Given the description of an element on the screen output the (x, y) to click on. 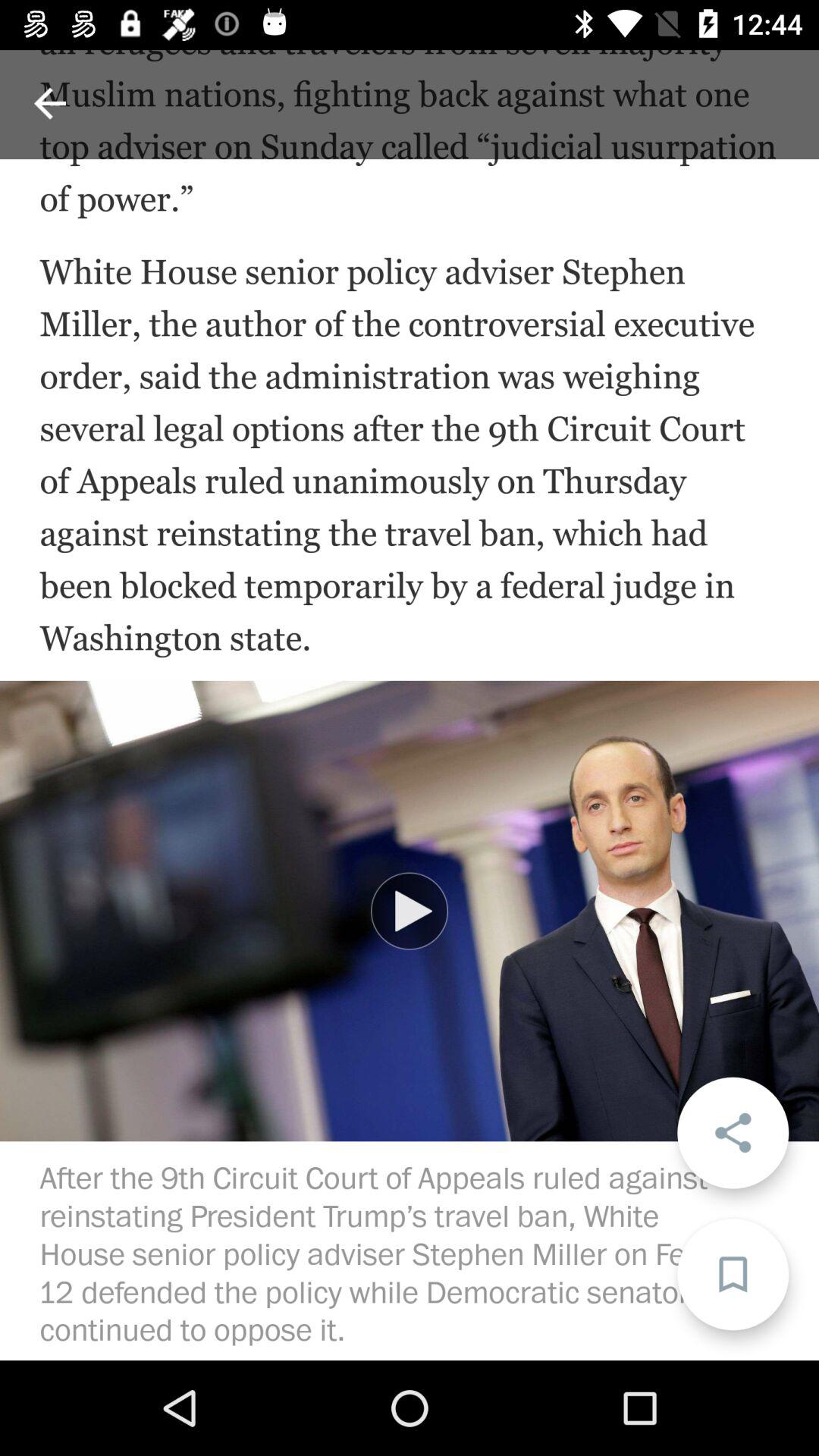
select icon below the white house senior (409, 910)
